Given the description of an element on the screen output the (x, y) to click on. 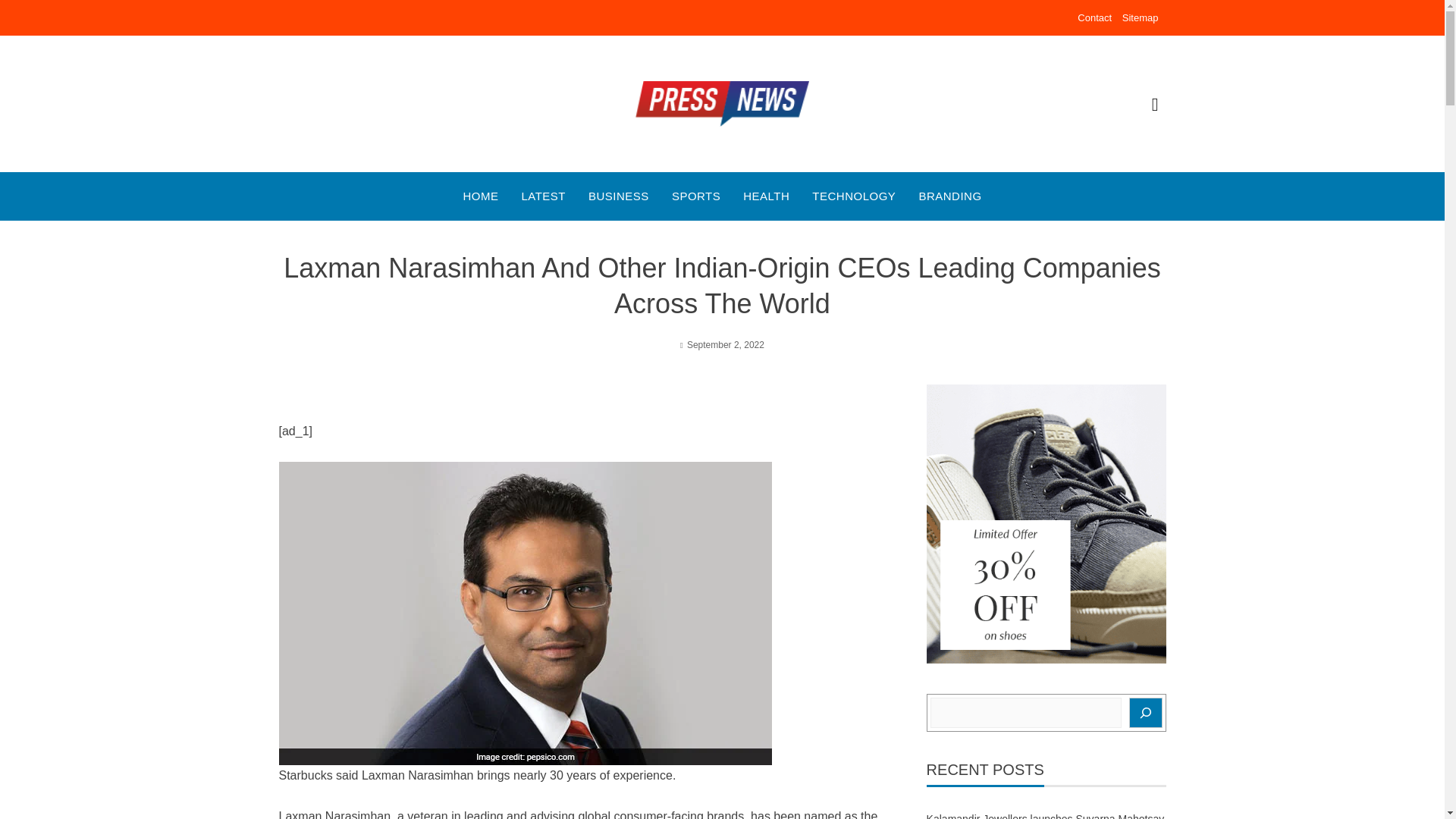
SPORTS (695, 196)
HOME (480, 196)
TECHNOLOGY (853, 196)
Contact (1094, 17)
Sitemap (1140, 17)
BRANDING (949, 196)
BUSINESS (618, 196)
LATEST (543, 196)
HEALTH (765, 196)
